Given the description of an element on the screen output the (x, y) to click on. 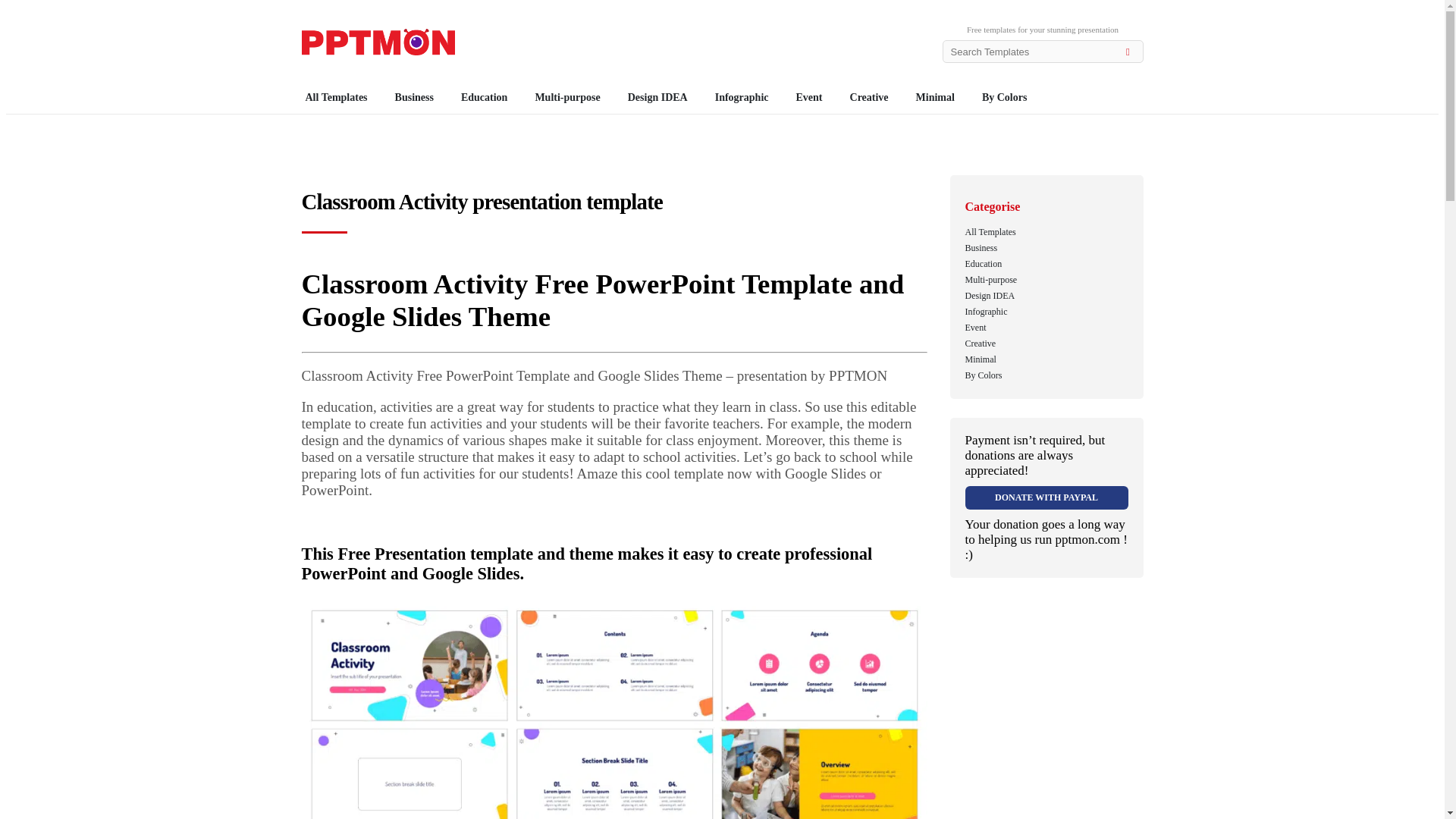
Multi-purpose (567, 97)
Creative (869, 97)
Design IDEA (657, 97)
Event (809, 97)
Minimal (934, 97)
All Templates (340, 97)
Education (483, 97)
By Colors (1004, 97)
All Templates (988, 232)
Business (414, 97)
